Given the description of an element on the screen output the (x, y) to click on. 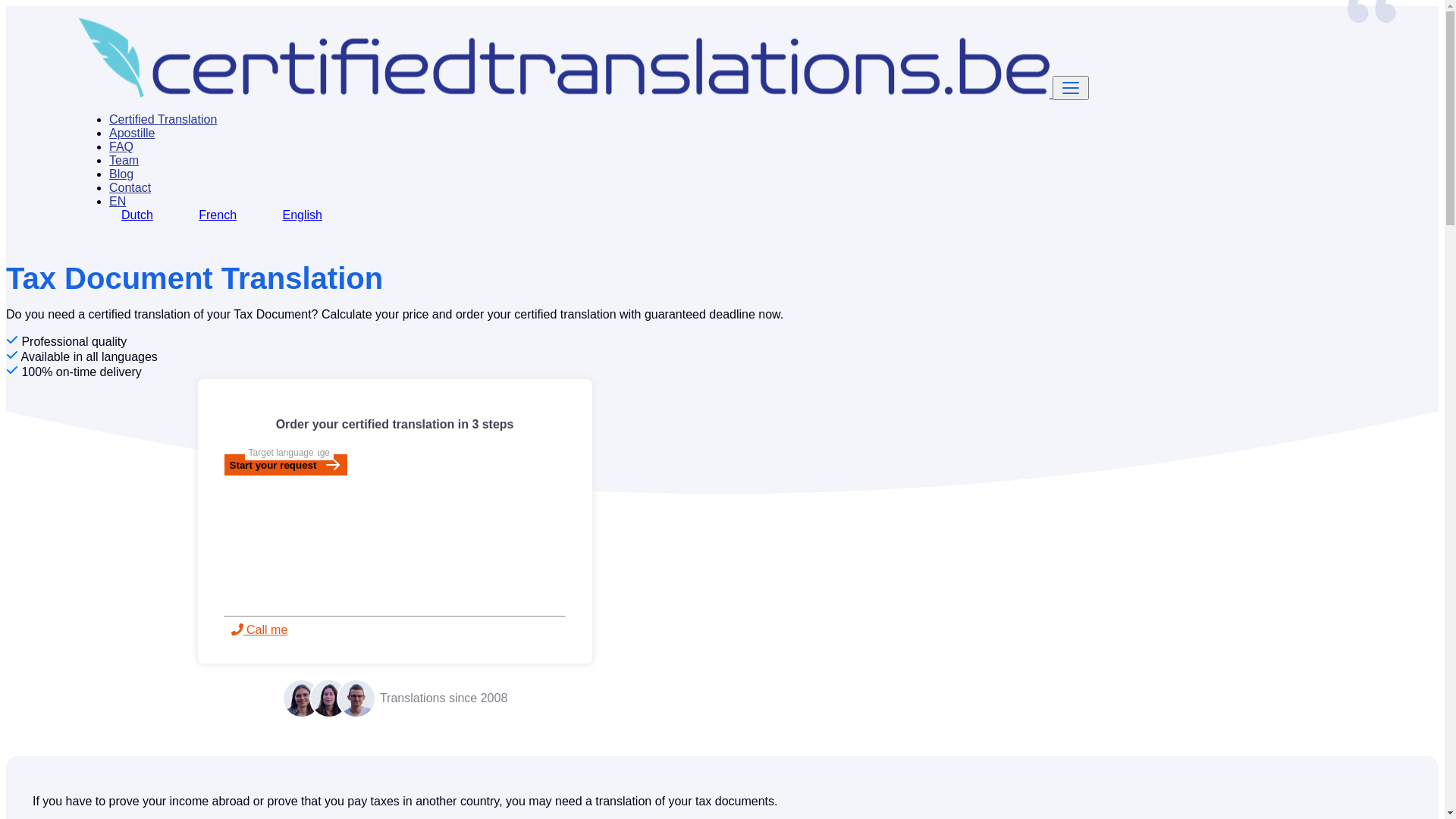
Dutch Element type: text (146, 213)
Contact Element type: text (129, 187)
Apostille Element type: text (131, 132)
FAQ Element type: text (121, 146)
English Element type: text (310, 213)
Start your request Element type: text (286, 464)
Team Element type: text (123, 159)
Certified Translation Element type: text (162, 118)
EN Element type: text (117, 200)
French Element type: text (226, 213)
Blog Element type: text (121, 173)
Call me Element type: text (259, 629)
